Given the description of an element on the screen output the (x, y) to click on. 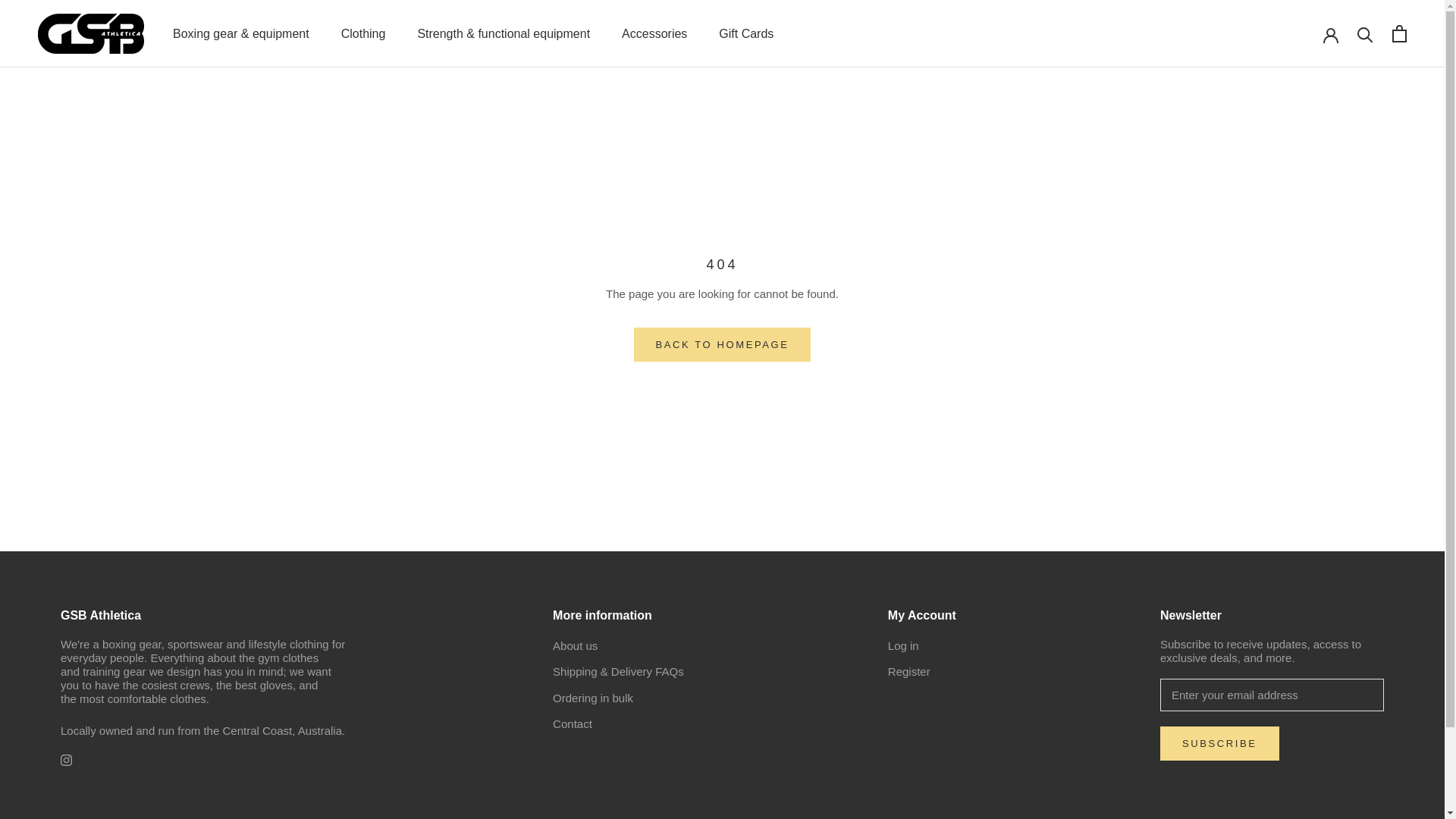
Ordering in bulk Element type: text (618, 698)
About us Element type: text (618, 646)
BACK TO HOMEPAGE Element type: text (722, 344)
Contact Element type: text (618, 724)
Boxing gear & equipment
Boxing gear & equipment Element type: text (240, 33)
Log in Element type: text (922, 646)
SUBSCRIBE Element type: text (1219, 743)
Accessories
Accessories Element type: text (654, 33)
Gift Cards
Gift Cards Element type: text (745, 33)
Clothing
Clothing Element type: text (363, 33)
Shipping & Delivery FAQs Element type: text (618, 671)
Register Element type: text (922, 671)
